Given the description of an element on the screen output the (x, y) to click on. 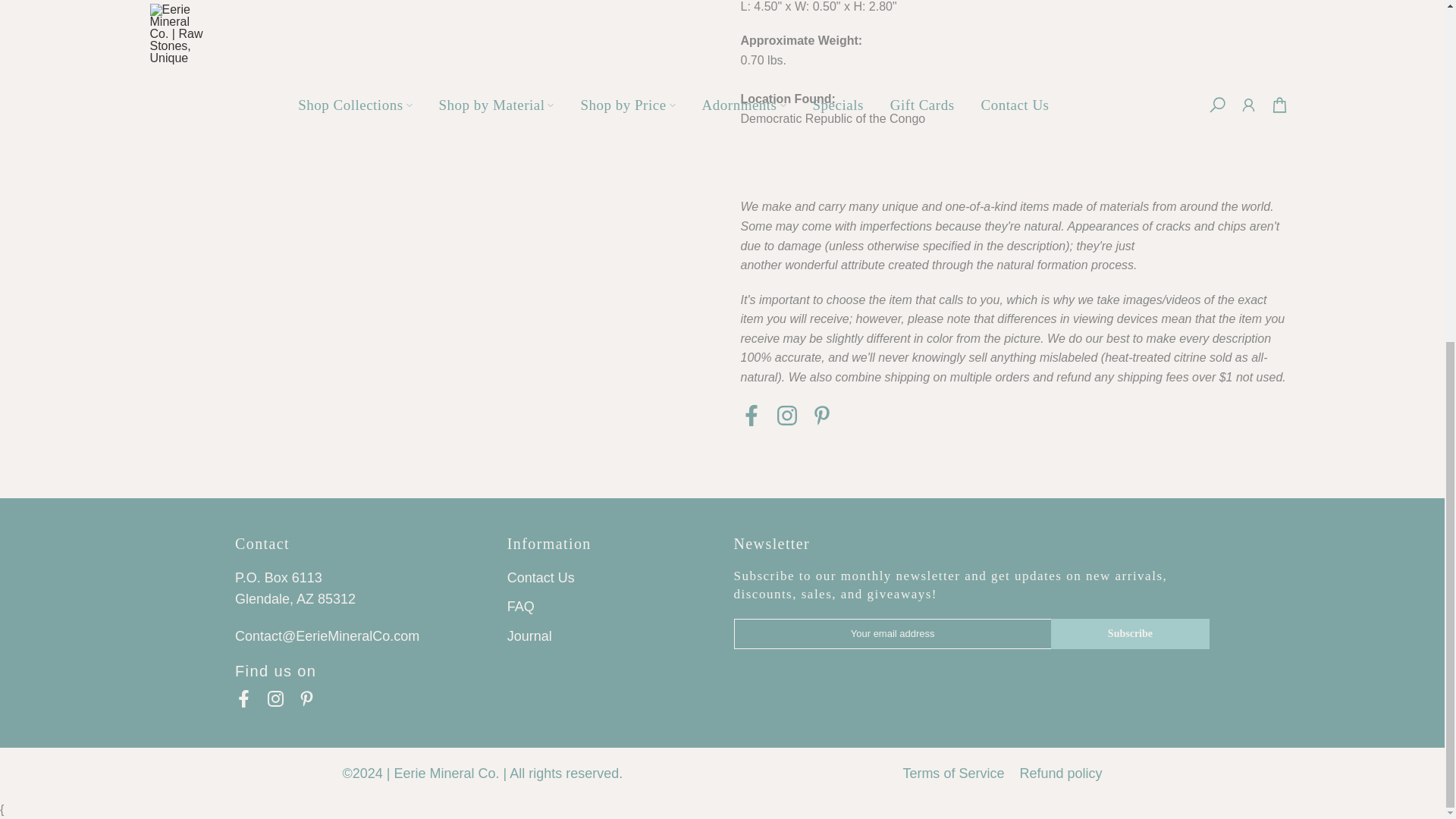
Contact Us (540, 577)
Refund policy (1060, 773)
FAQ (520, 606)
Terms of Service (953, 773)
Journal (528, 635)
Subscribe (1130, 634)
